Given the description of an element on the screen output the (x, y) to click on. 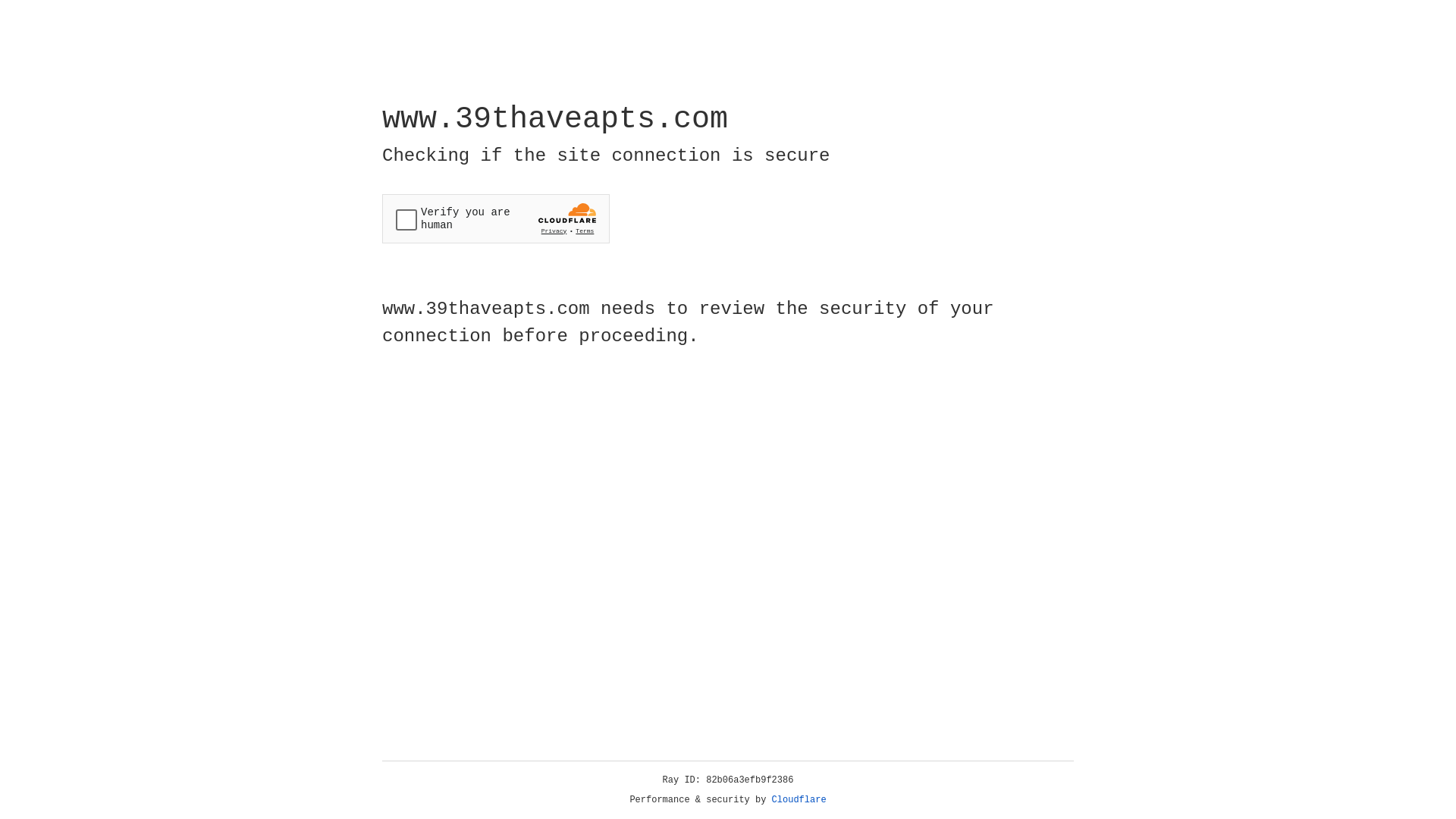
Cloudflare Element type: text (798, 799)
Widget containing a Cloudflare security challenge Element type: hover (495, 218)
